Given the description of an element on the screen output the (x, y) to click on. 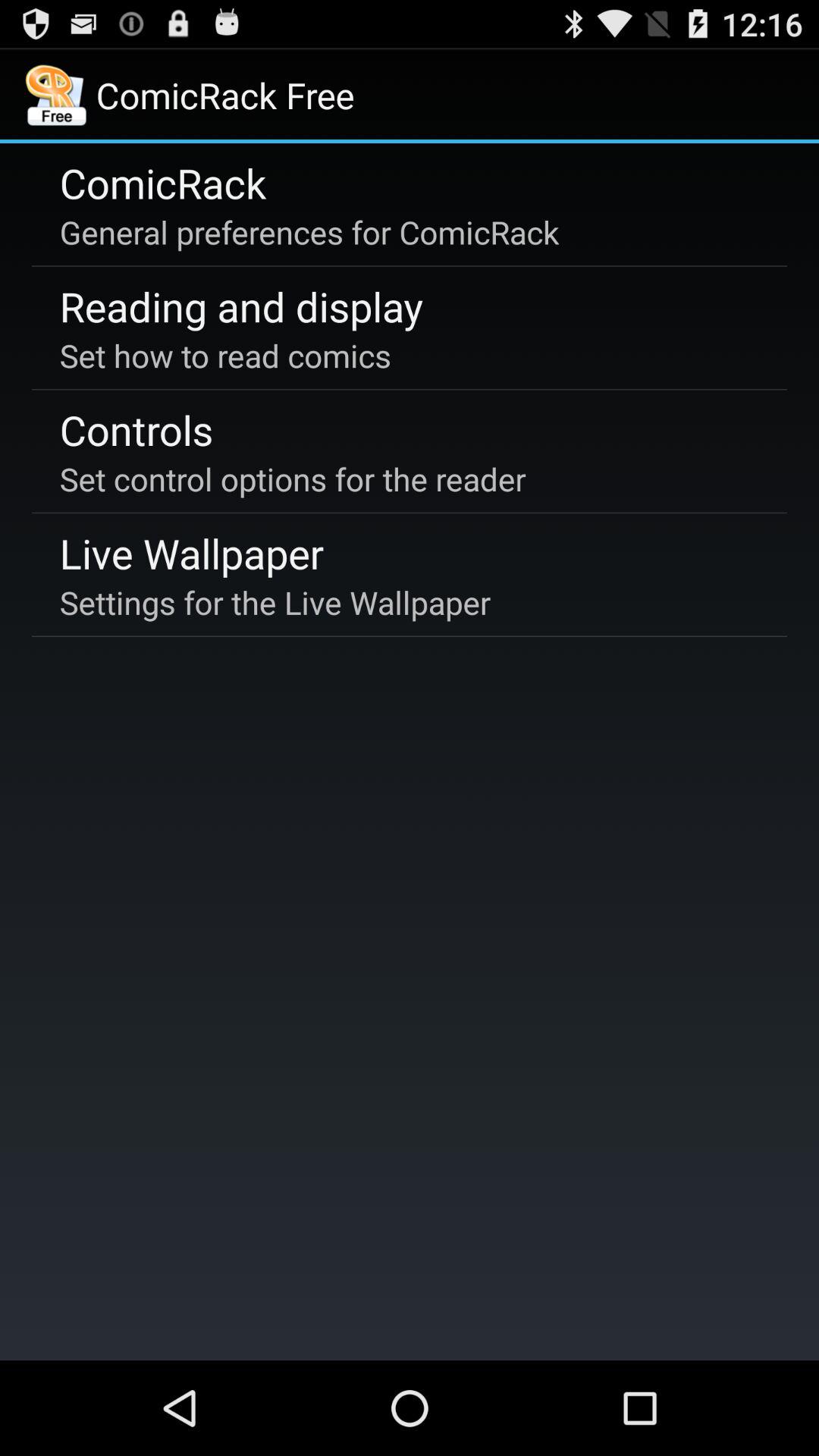
click the app above set how to item (241, 305)
